Given the description of an element on the screen output the (x, y) to click on. 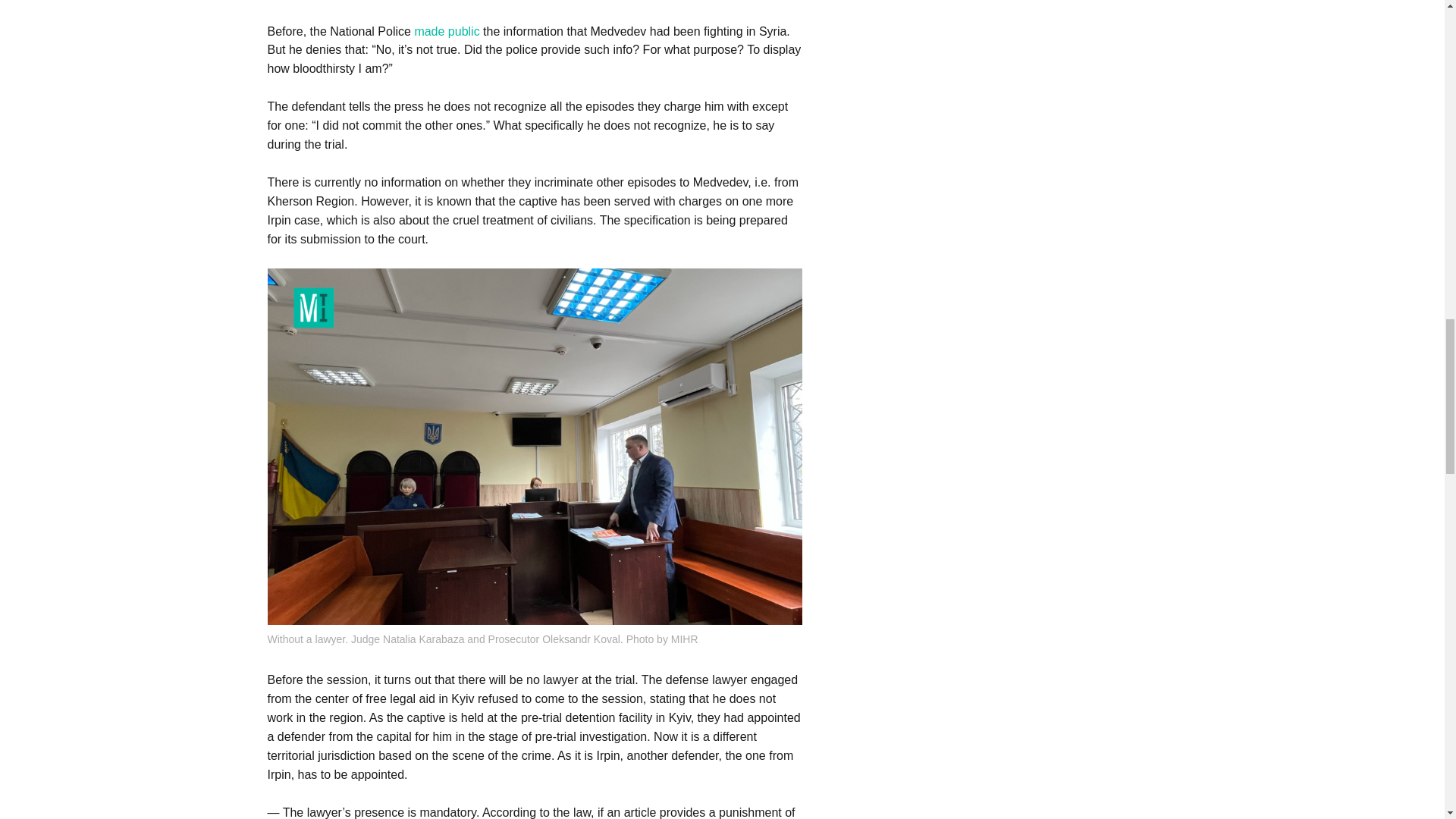
made public (446, 30)
